Given the description of an element on the screen output the (x, y) to click on. 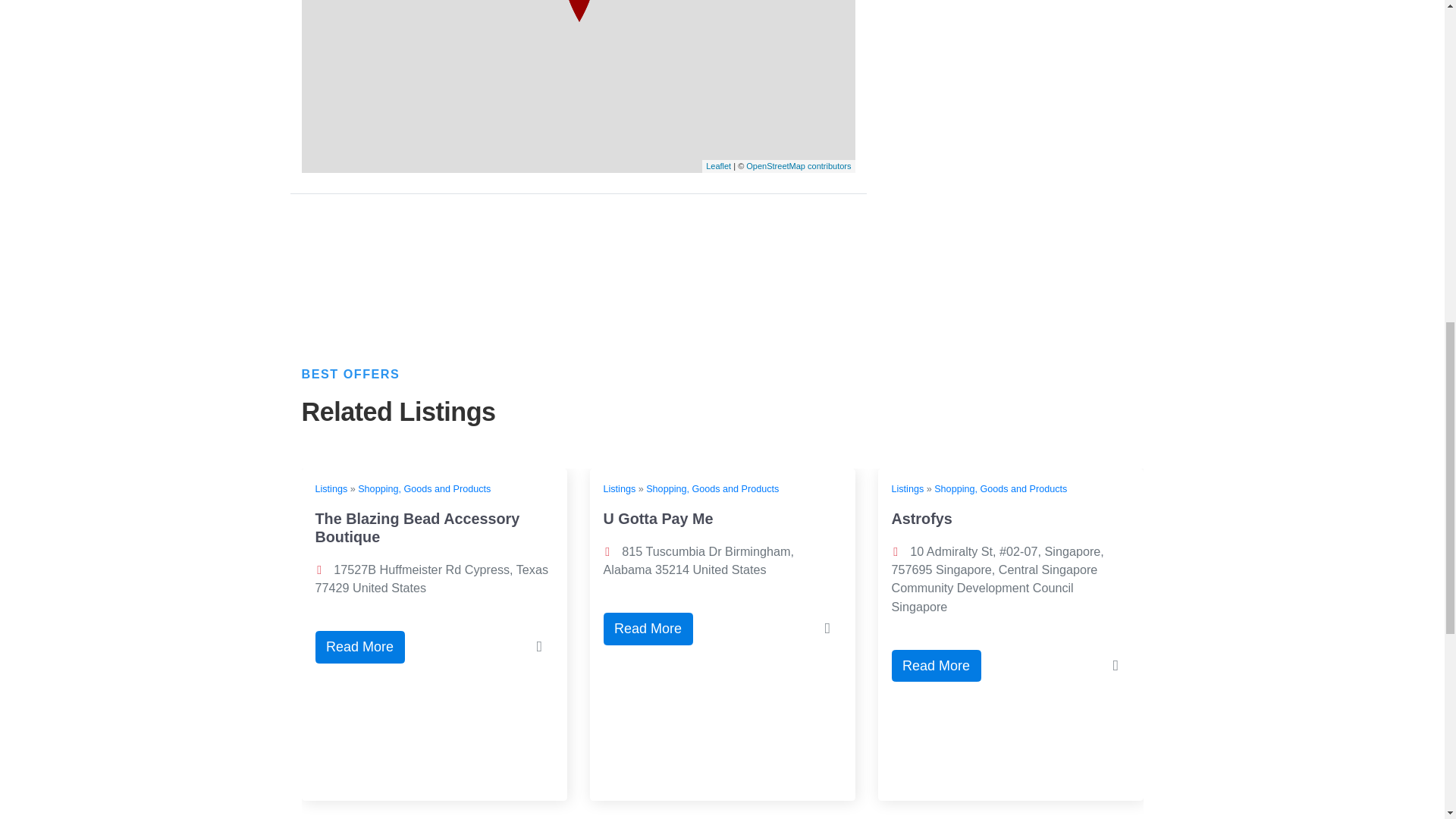
U Gotta Pay Me (658, 518)
Astrofys (921, 518)
The Blazing Bead Accessory Boutique (417, 527)
Listings (331, 489)
Shopping, Goods and Products (712, 489)
Leaflet (718, 165)
Read More (936, 666)
A JS library for interactive maps (718, 165)
Listings (620, 489)
Shopping, Goods and Products (424, 489)
